Given the description of an element on the screen output the (x, y) to click on. 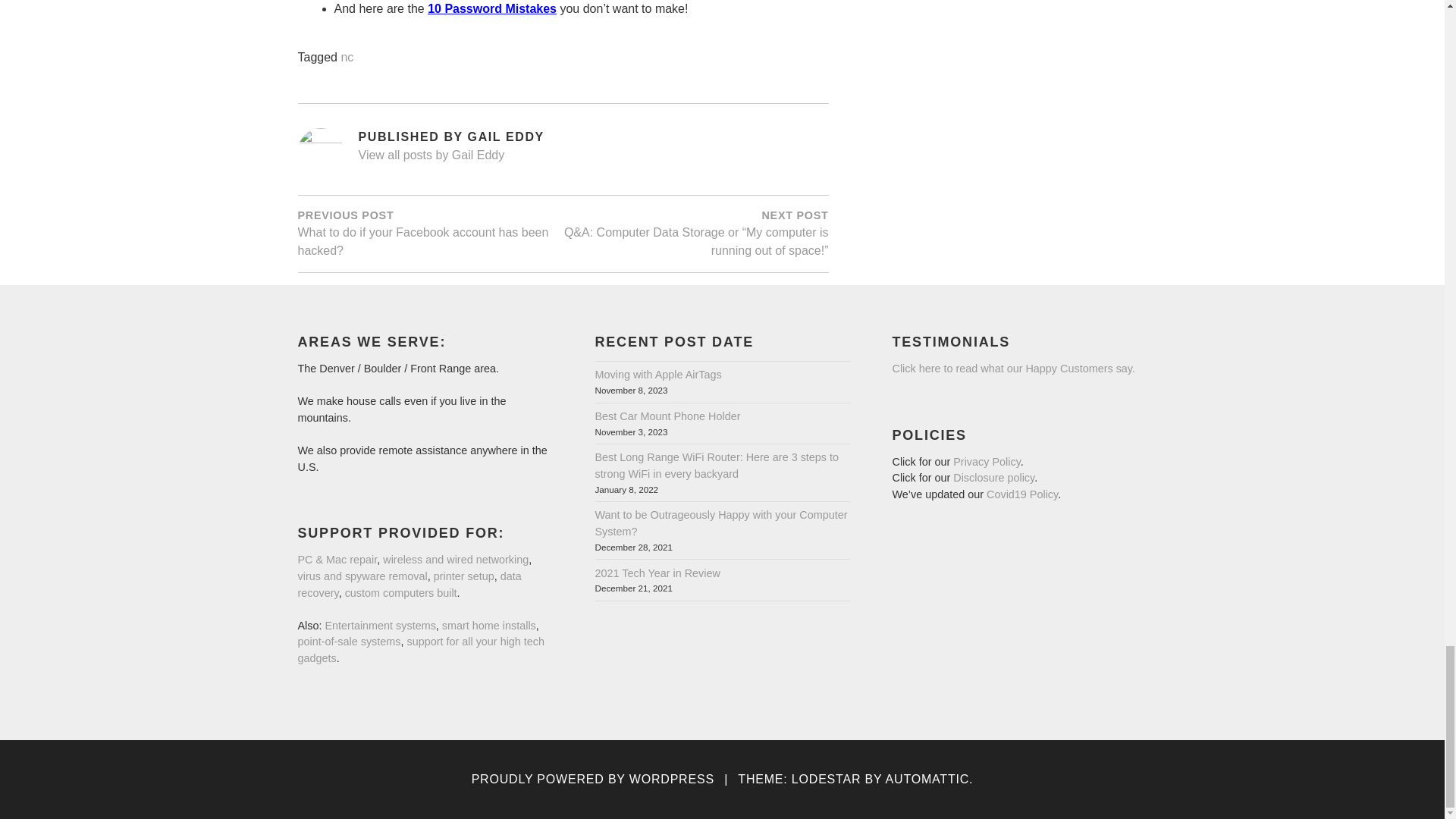
10 Password Mistakes (492, 9)
wireless and wired networking (455, 560)
nc (346, 57)
View all posts by Gail Eddy (593, 156)
